Given the description of an element on the screen output the (x, y) to click on. 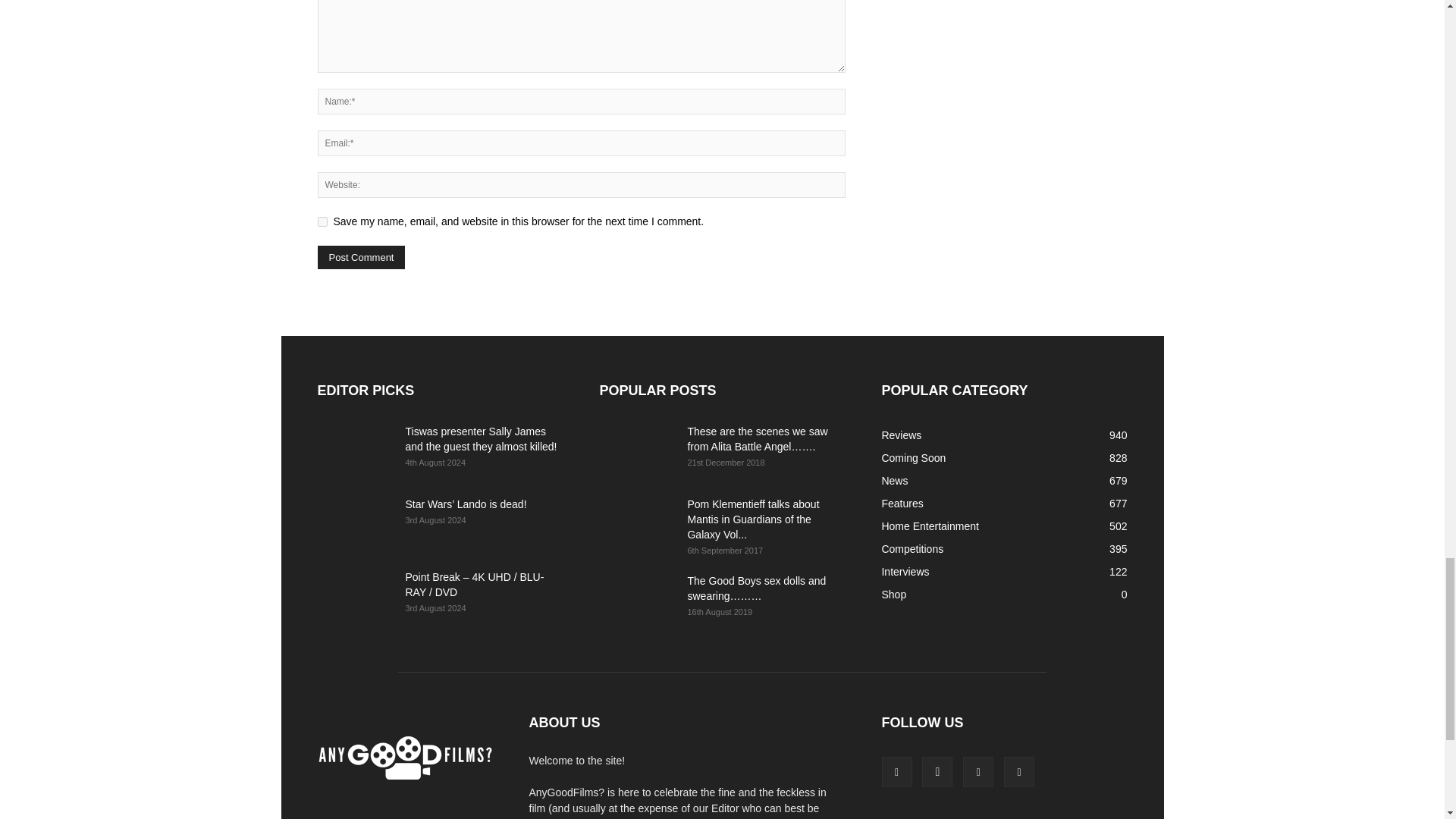
yes (321, 221)
Post Comment (360, 257)
